Given the description of an element on the screen output the (x, y) to click on. 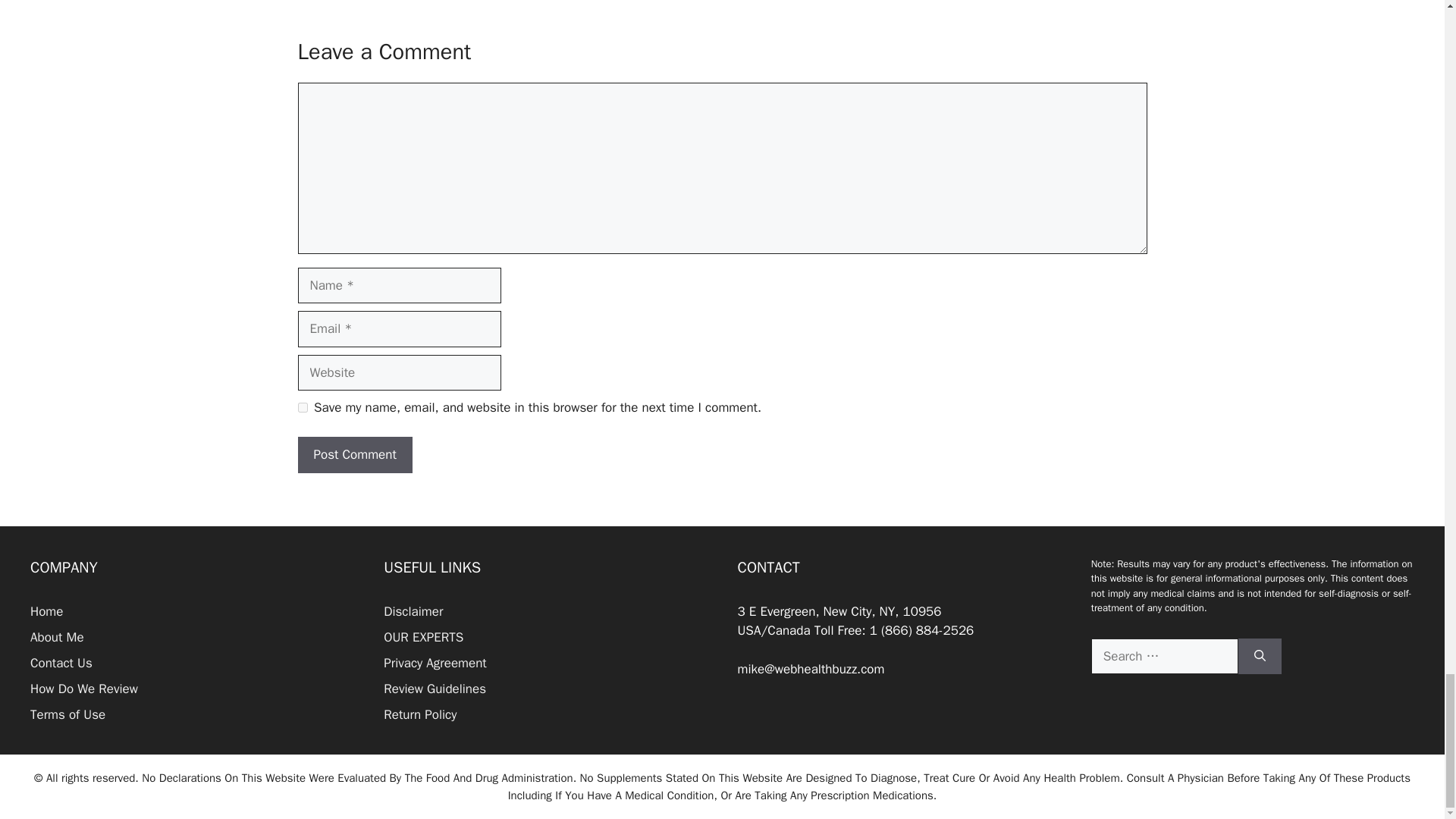
Post Comment (354, 454)
yes (302, 407)
